Given the description of an element on the screen output the (x, y) to click on. 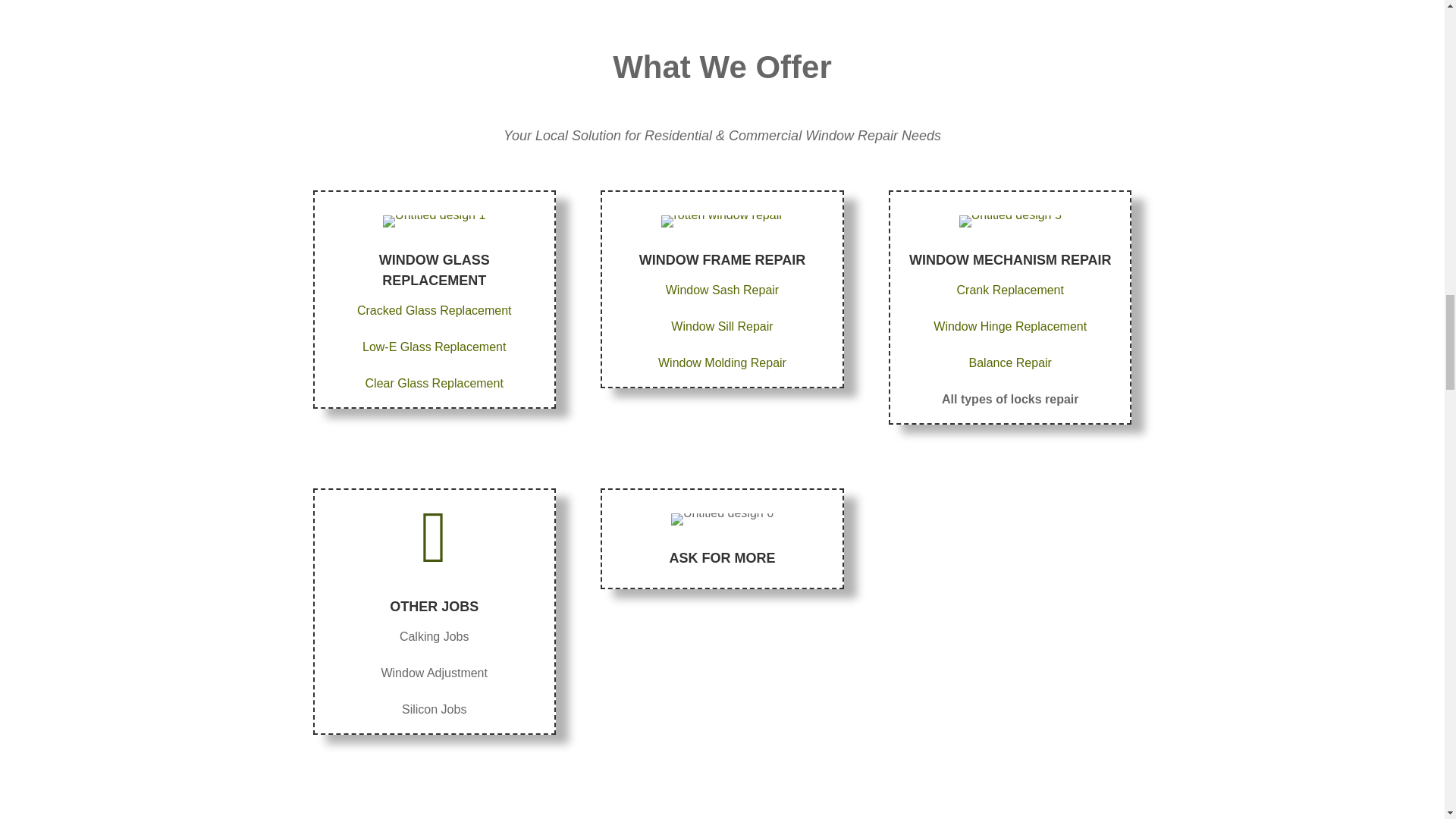
Low-E Glass Replacement (433, 346)
WINDOW GLASS REPLACEMENT (433, 270)
Window Sill Repair (722, 326)
Cracked Glass Replacement (434, 309)
WINDOW FRAME REPAIR (722, 259)
Balance Repair (1010, 362)
Window Molding Repair (722, 362)
Window Sash Repair (721, 289)
Clear Glass Replacement (434, 382)
WINDOW MECHANISM REPAIR (1010, 259)
